Given the description of an element on the screen output the (x, y) to click on. 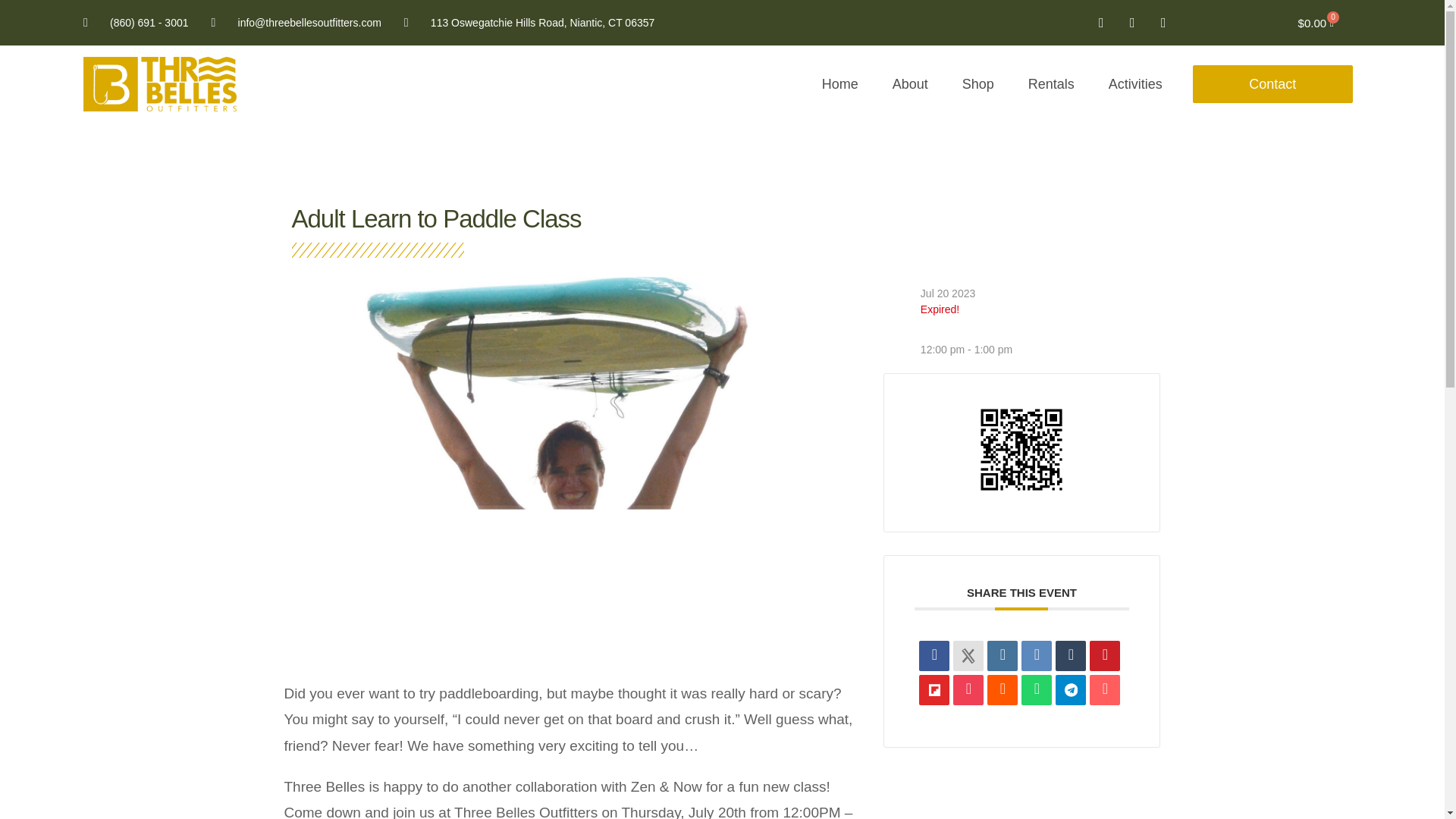
Contact (1272, 84)
Linkedin (1002, 655)
Share on WhatsApp (1036, 689)
Share on Telegram (1070, 689)
About (910, 83)
Shop (978, 83)
Home (839, 83)
Share on Tumblr (1070, 655)
Share on Facebook (933, 655)
X Social Network (968, 655)
Email (1104, 689)
Share on Flipboard (933, 689)
Activities (1135, 83)
Share on Reddit (1002, 689)
Share on GetPocket (968, 689)
